Given the description of an element on the screen output the (x, y) to click on. 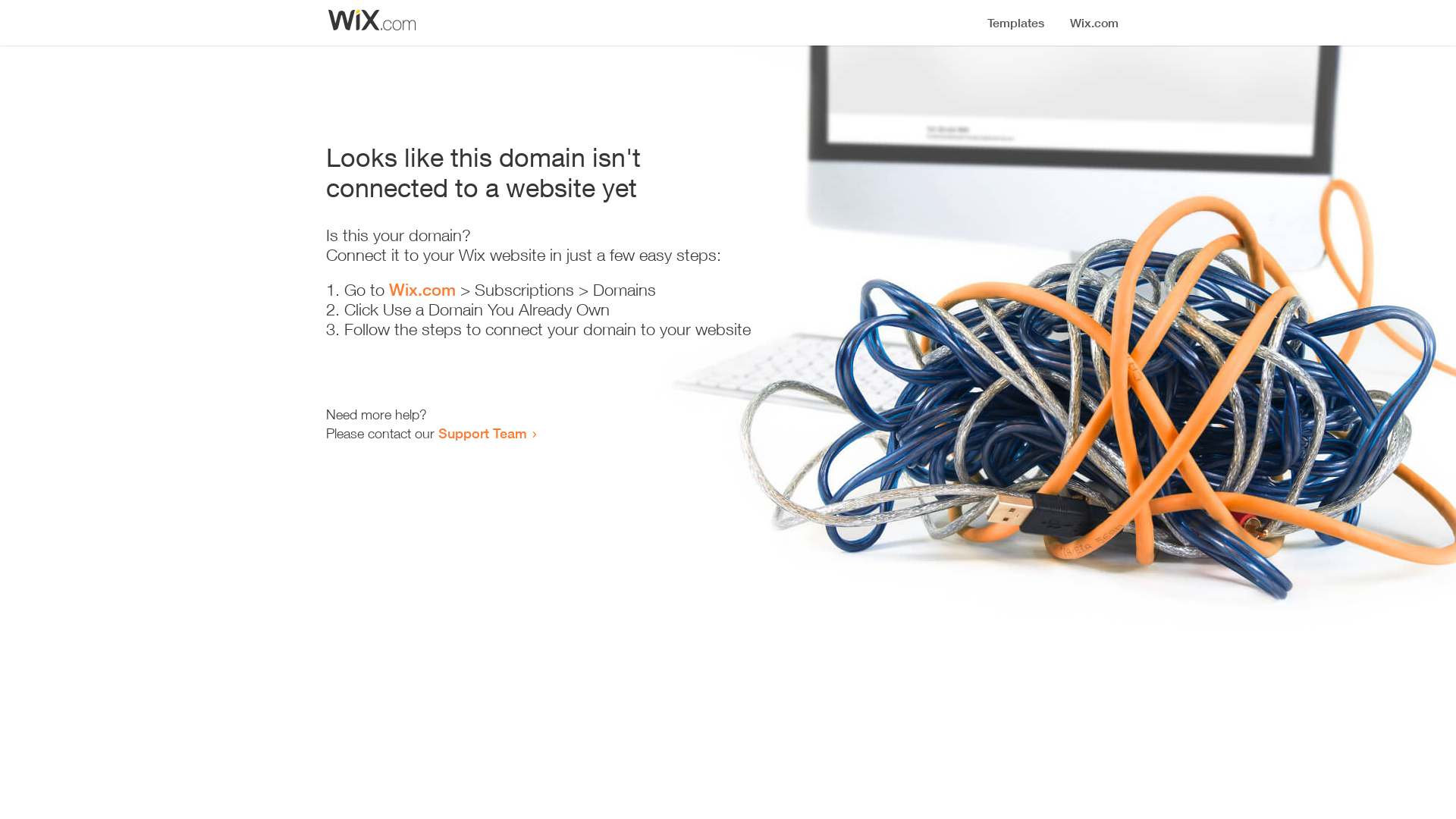
Wix.com Element type: text (422, 289)
Support Team Element type: text (482, 432)
